Given the description of an element on the screen output the (x, y) to click on. 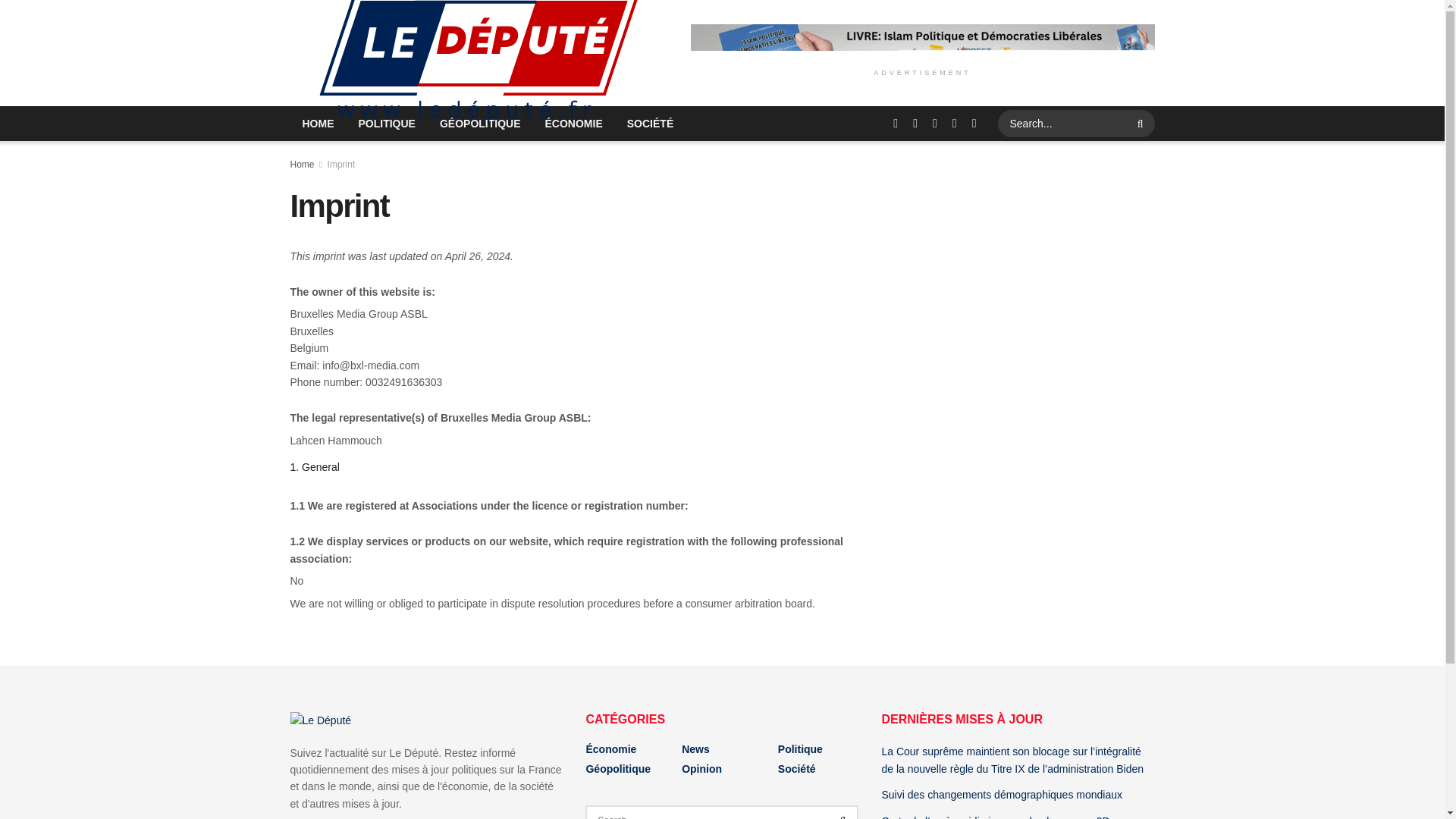
HOME (317, 123)
Opinion (701, 768)
News (695, 748)
Politique (799, 748)
POLITIQUE (386, 123)
Imprint (341, 163)
Home (301, 163)
